Given the description of an element on the screen output the (x, y) to click on. 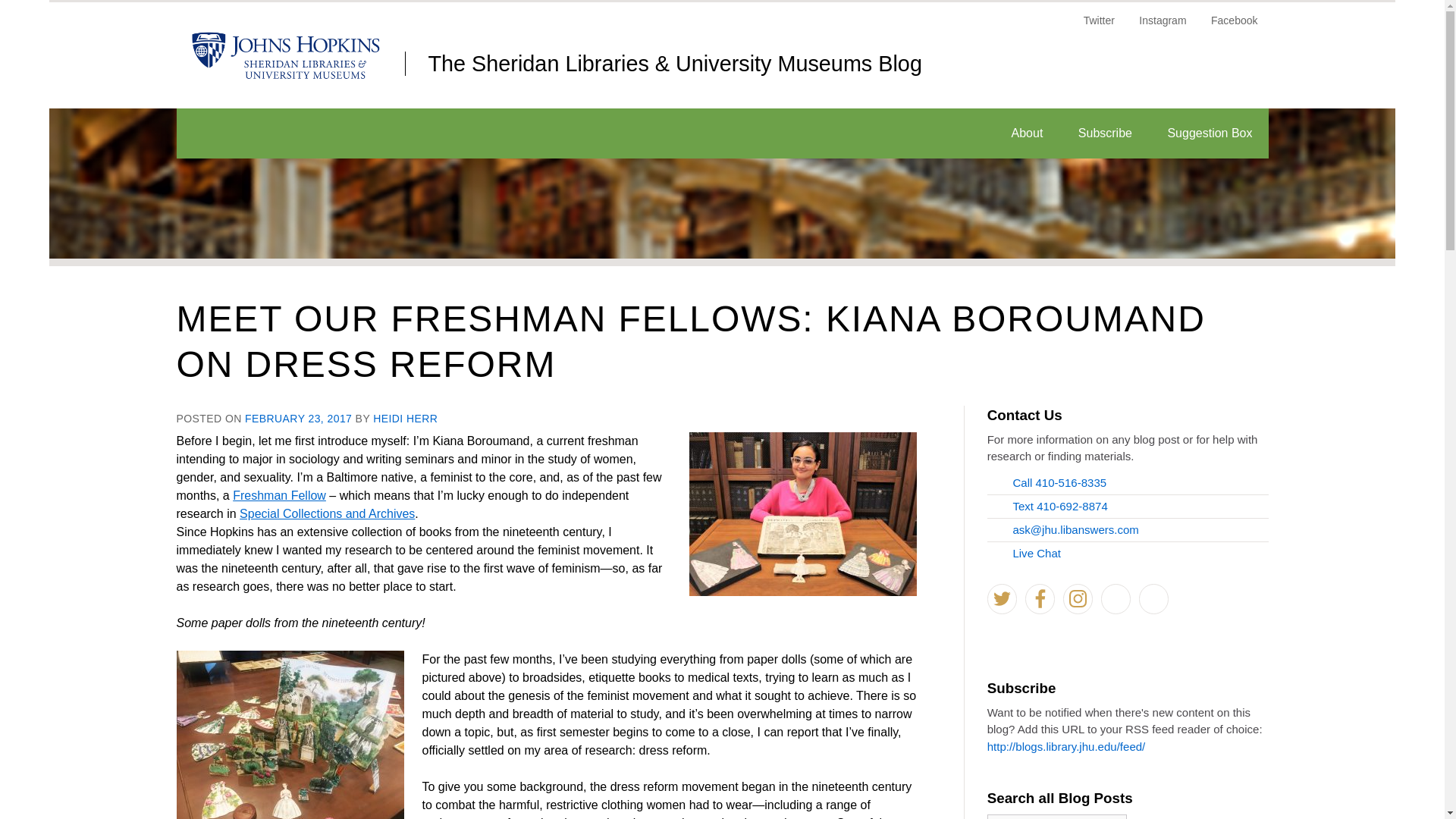
FEBRUARY 23, 2017 (298, 418)
HEIDI HERR (405, 418)
Text 410-692-8874 (1048, 505)
YouTube (1115, 598)
Twitter (1099, 25)
Facebook (1040, 598)
Flickr (1153, 598)
Freshman Fellow (279, 495)
Instagram (1162, 25)
About (1027, 133)
